Given the description of an element on the screen output the (x, y) to click on. 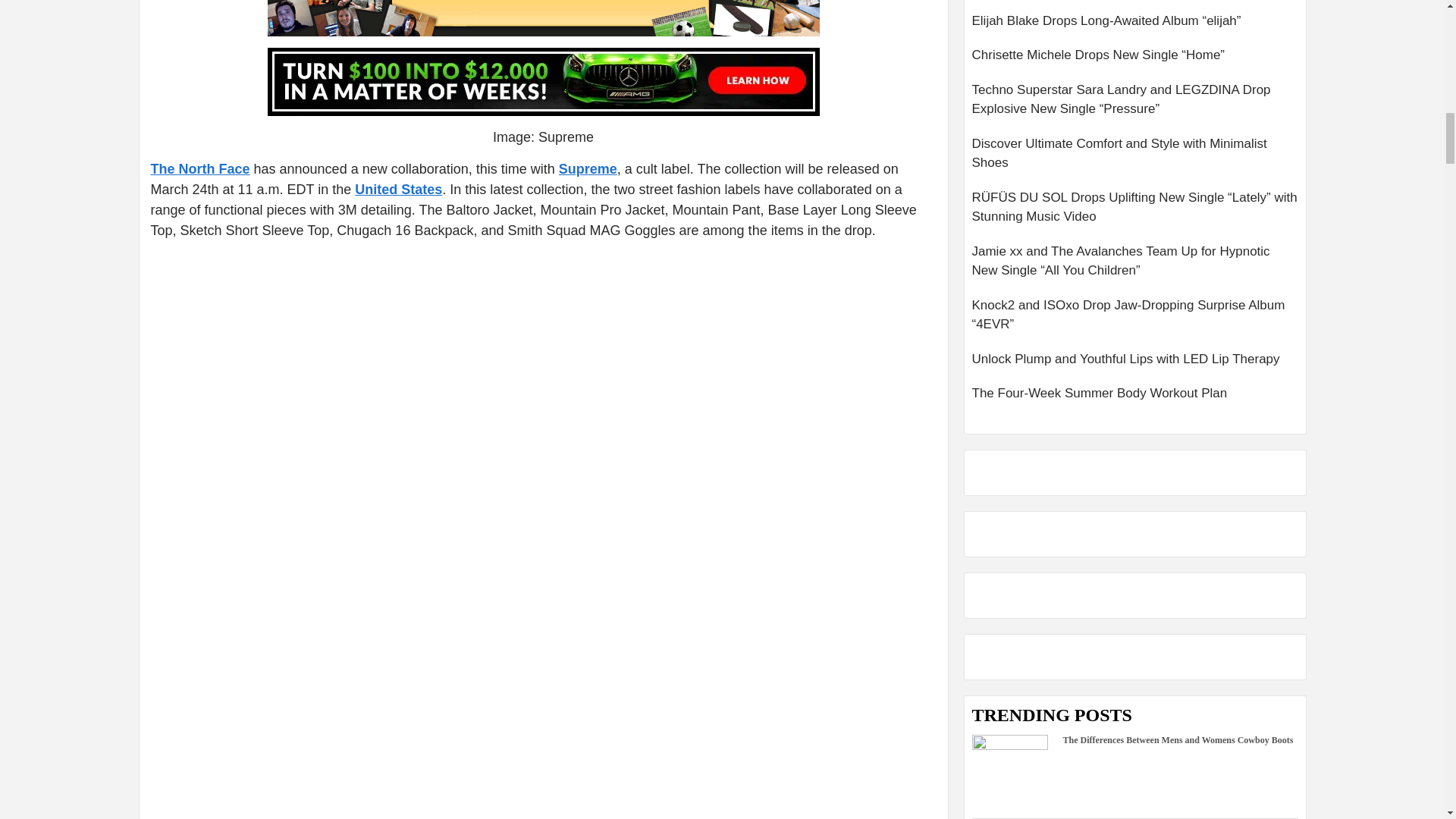
The North Face (198, 168)
Supreme (588, 168)
United States (398, 189)
